Given the description of an element on the screen output the (x, y) to click on. 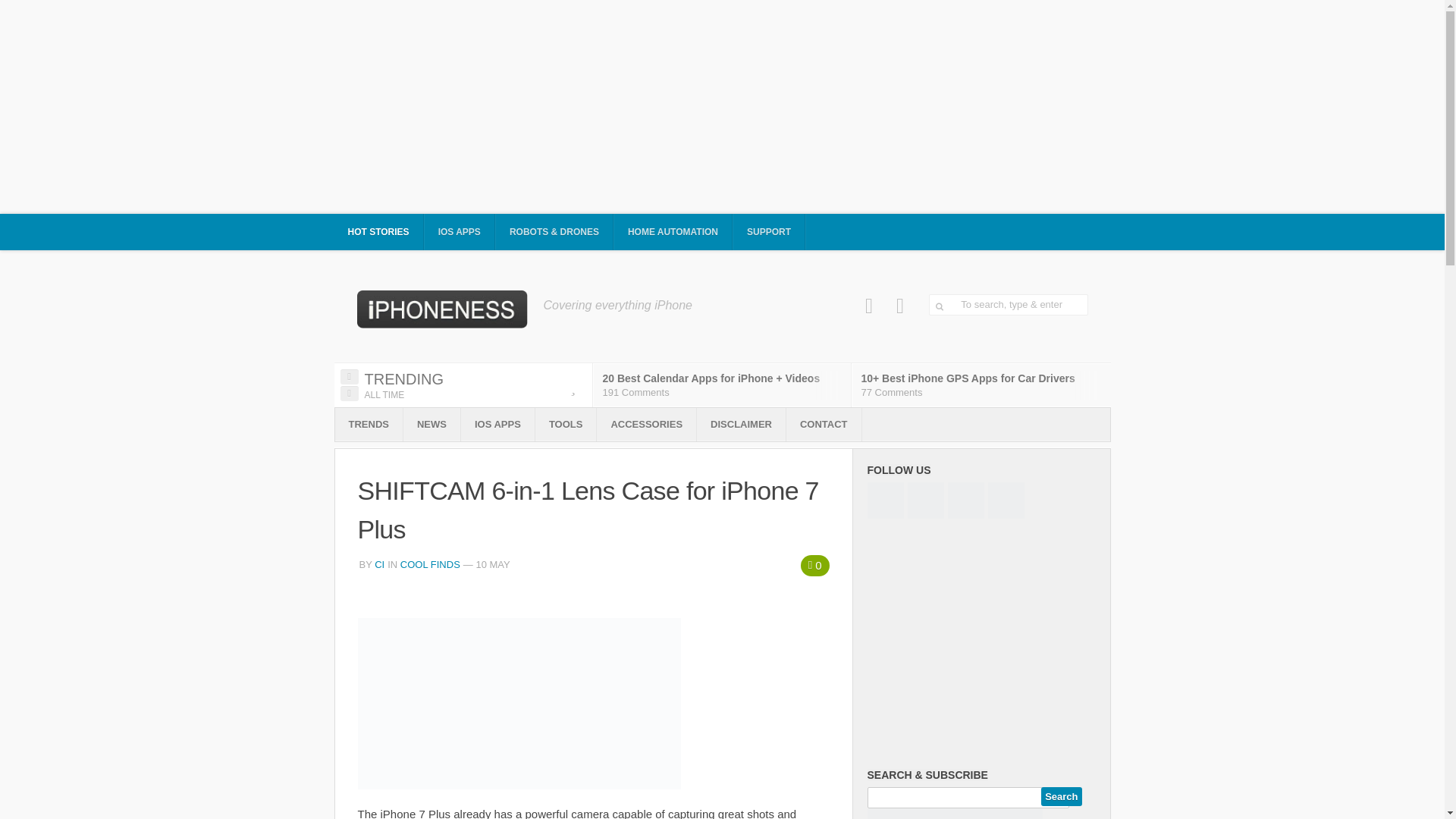
Pinterest (900, 305)
Facebook (869, 305)
HOME AUTOMATION (673, 231)
HOT STORIES (377, 231)
SUPPORT (769, 231)
TRENDS (368, 424)
IOS APPS (460, 231)
NEWS (431, 424)
Search (1061, 796)
